Given the description of an element on the screen output the (x, y) to click on. 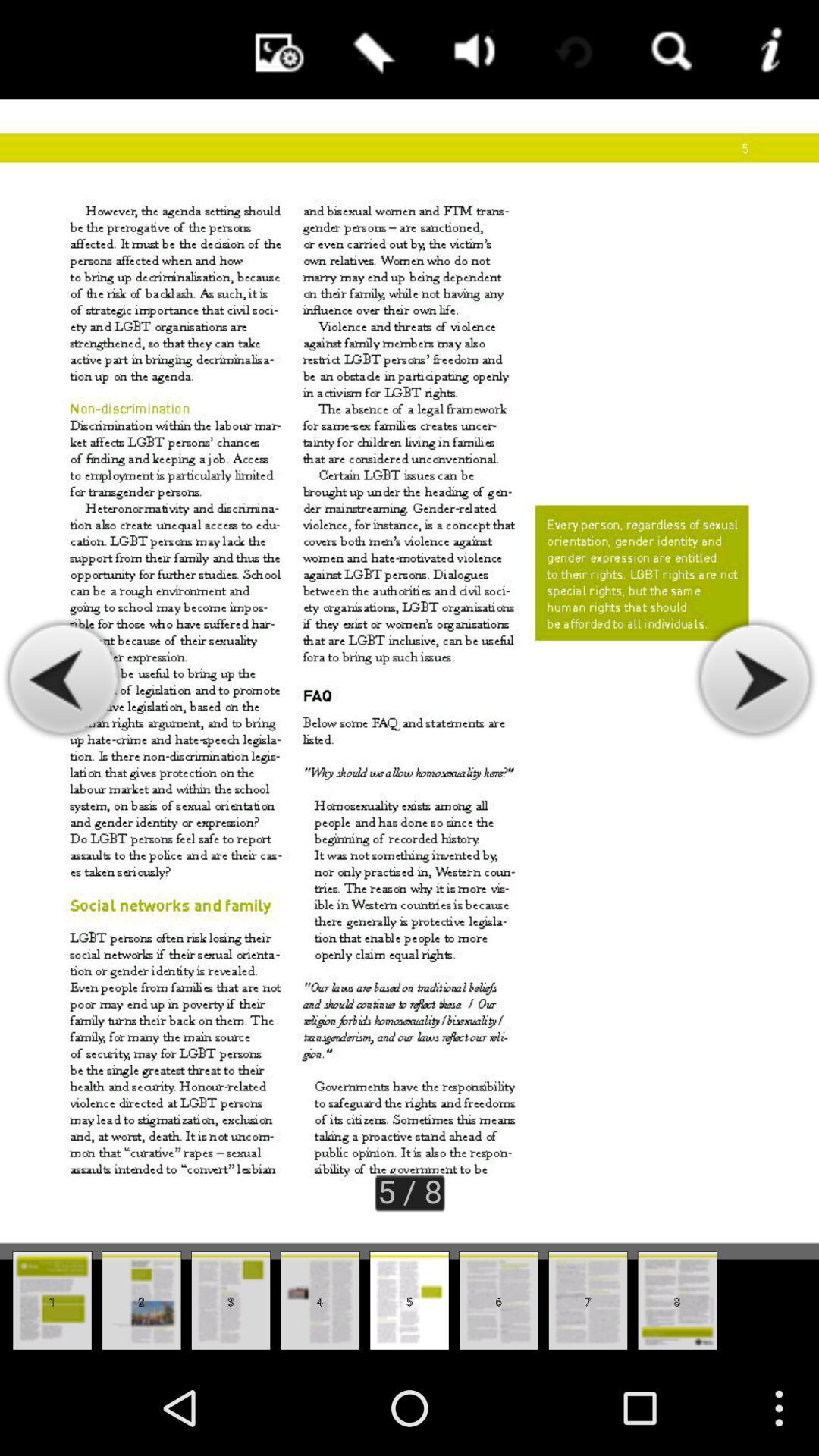
go back (63, 679)
